Given the description of an element on the screen output the (x, y) to click on. 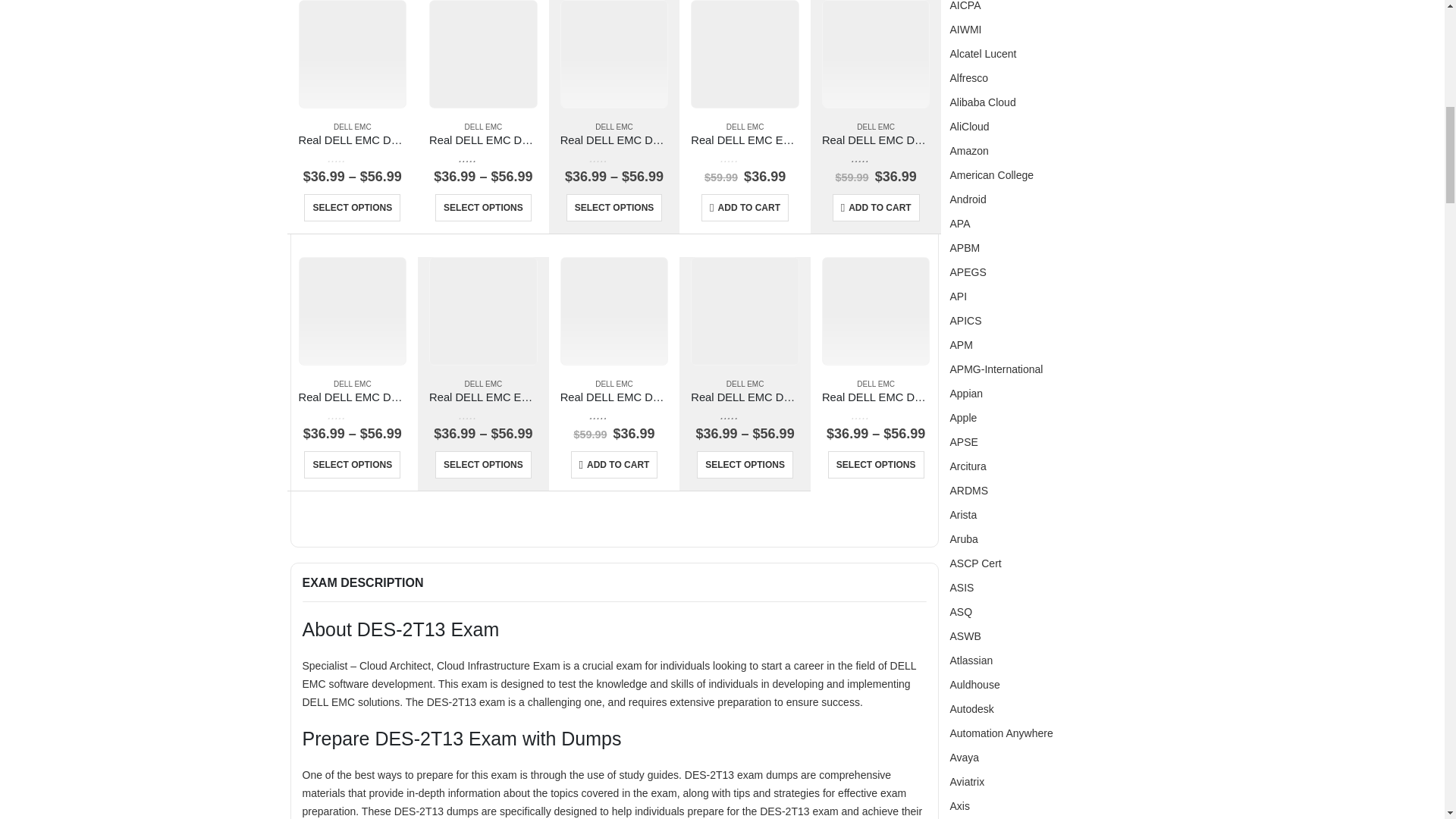
4.13 (483, 157)
0 (352, 157)
4.63 (875, 157)
0 (745, 157)
0 (614, 157)
